Given the description of an element on the screen output the (x, y) to click on. 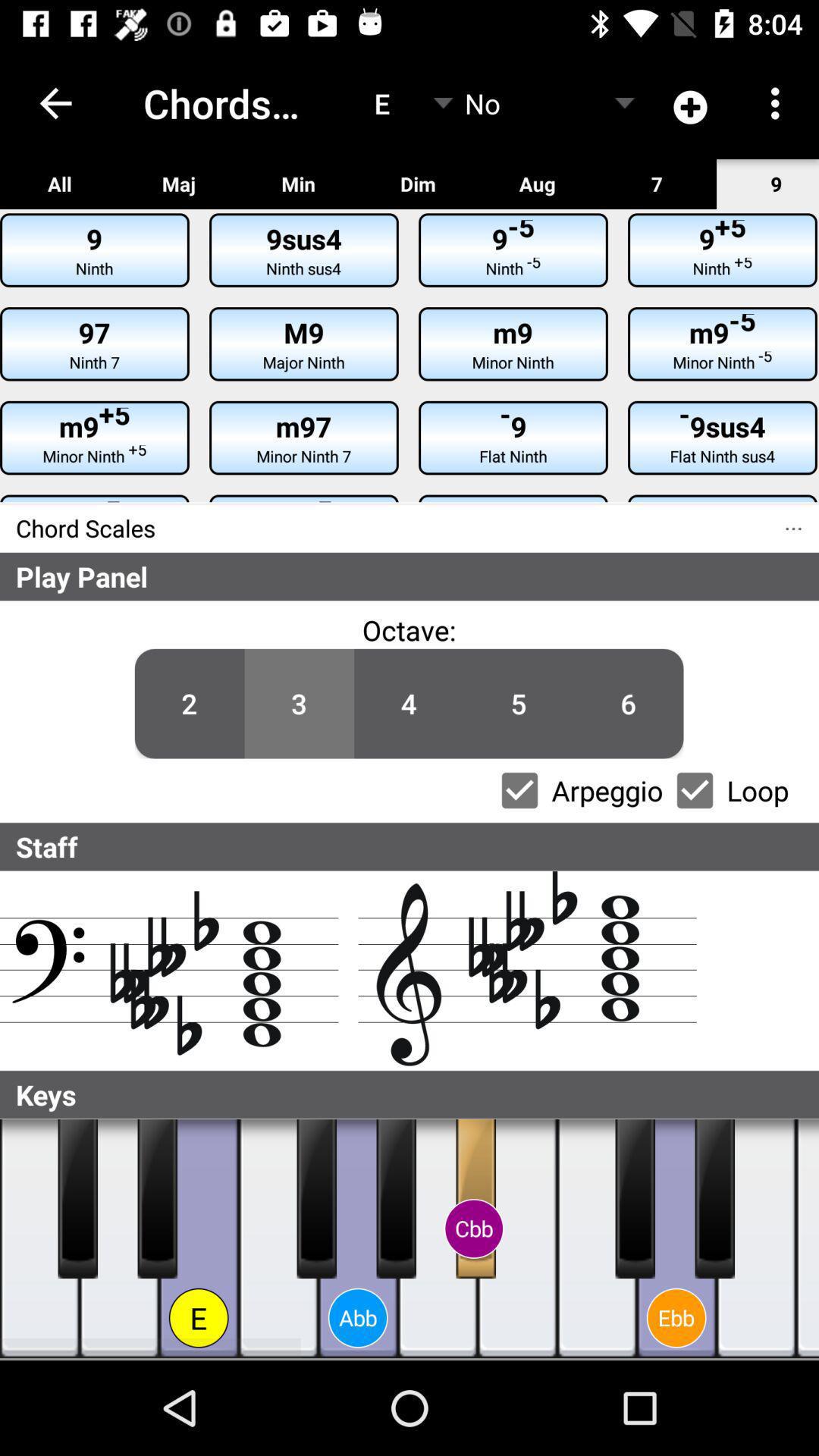
d keyboard key (676, 1238)
